Given the description of an element on the screen output the (x, y) to click on. 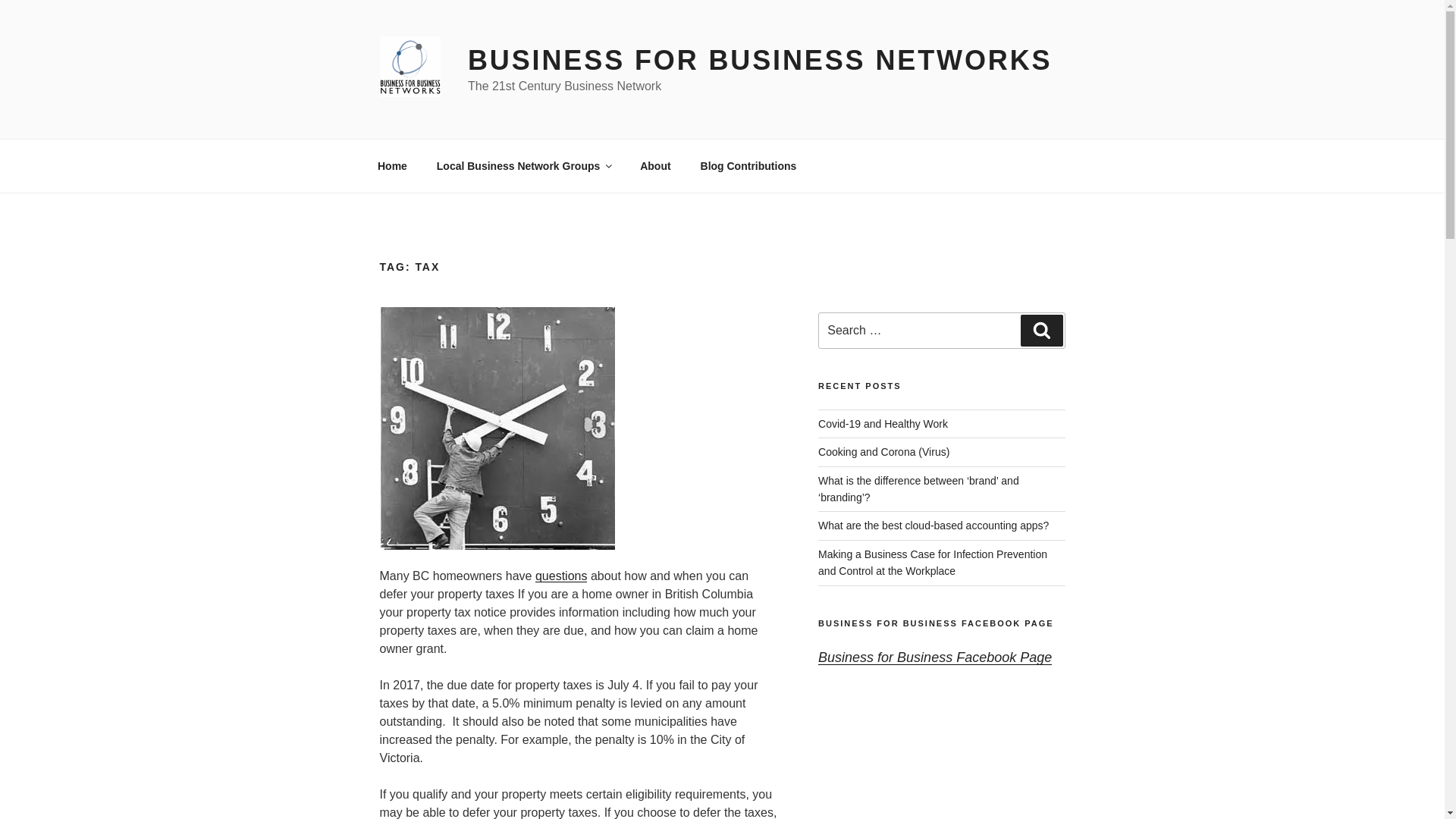
BUSINESS FOR BUSINESS NETWORKS (759, 60)
Search (1041, 330)
About (655, 165)
Covid-19 and Healthy Work (882, 423)
Local Business Network Groups (523, 165)
What are the best cloud-based accounting apps? (933, 525)
Blog Contributions (748, 165)
BUSINESS FOR BUSINESS FACEBOOK PAGE (936, 623)
questions (561, 575)
Home (392, 165)
Business for Business Facebook Page (934, 657)
